Given the description of an element on the screen output the (x, y) to click on. 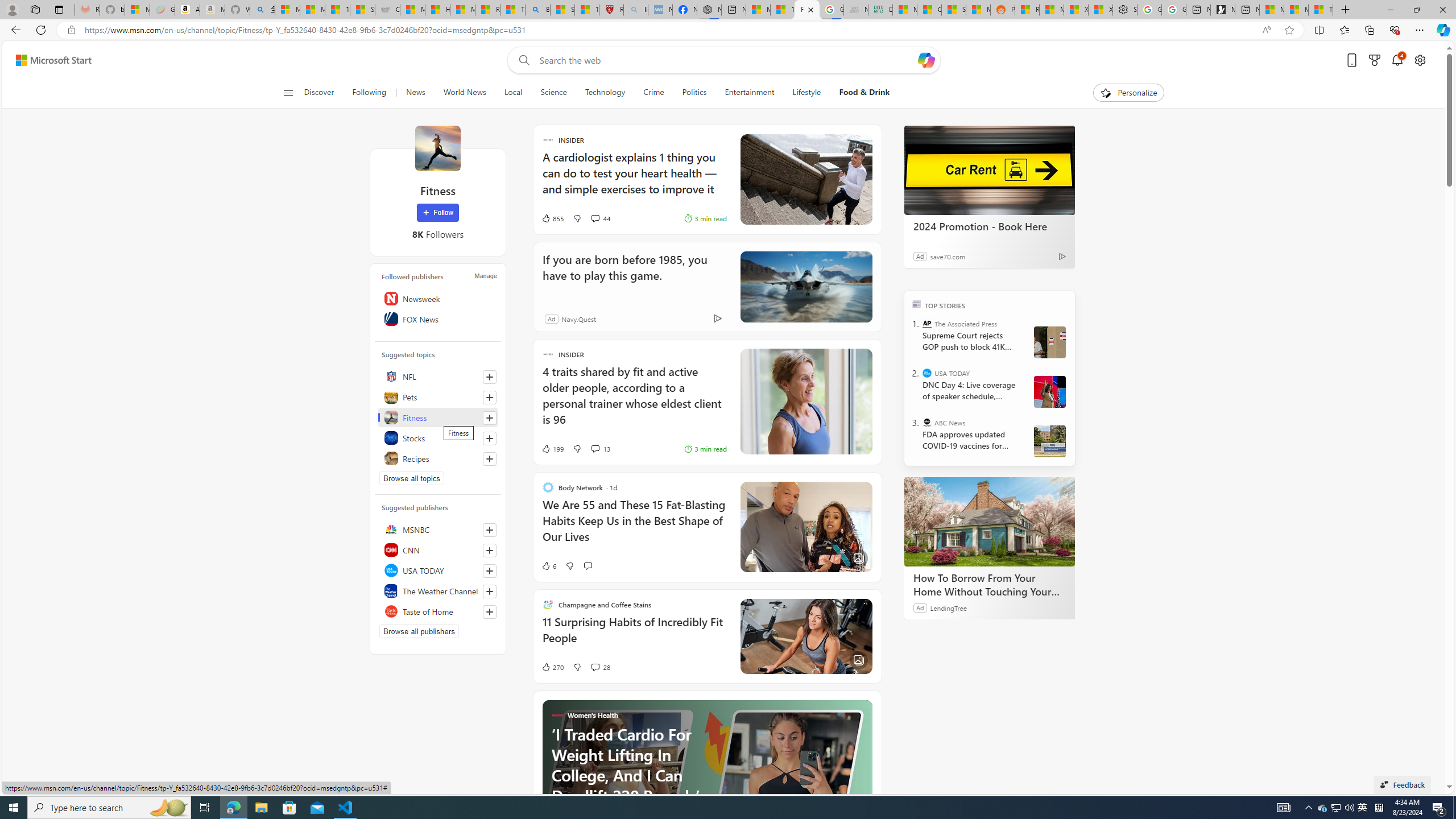
Robert H. Shmerling, MD - Harvard Health (611, 9)
270 Like (551, 667)
2024 Promotion - Book Here (989, 169)
855 Like (551, 218)
Enter your search term (726, 59)
View comments 28 Comment (594, 666)
View comments 13 Comment (599, 448)
11 Surprising Habits of Incredibly Fit People (633, 635)
Politics (694, 92)
Science - MSN (562, 9)
These 3 Stocks Pay You More Than 5% to Own Them (1320, 9)
